Given the description of an element on the screen output the (x, y) to click on. 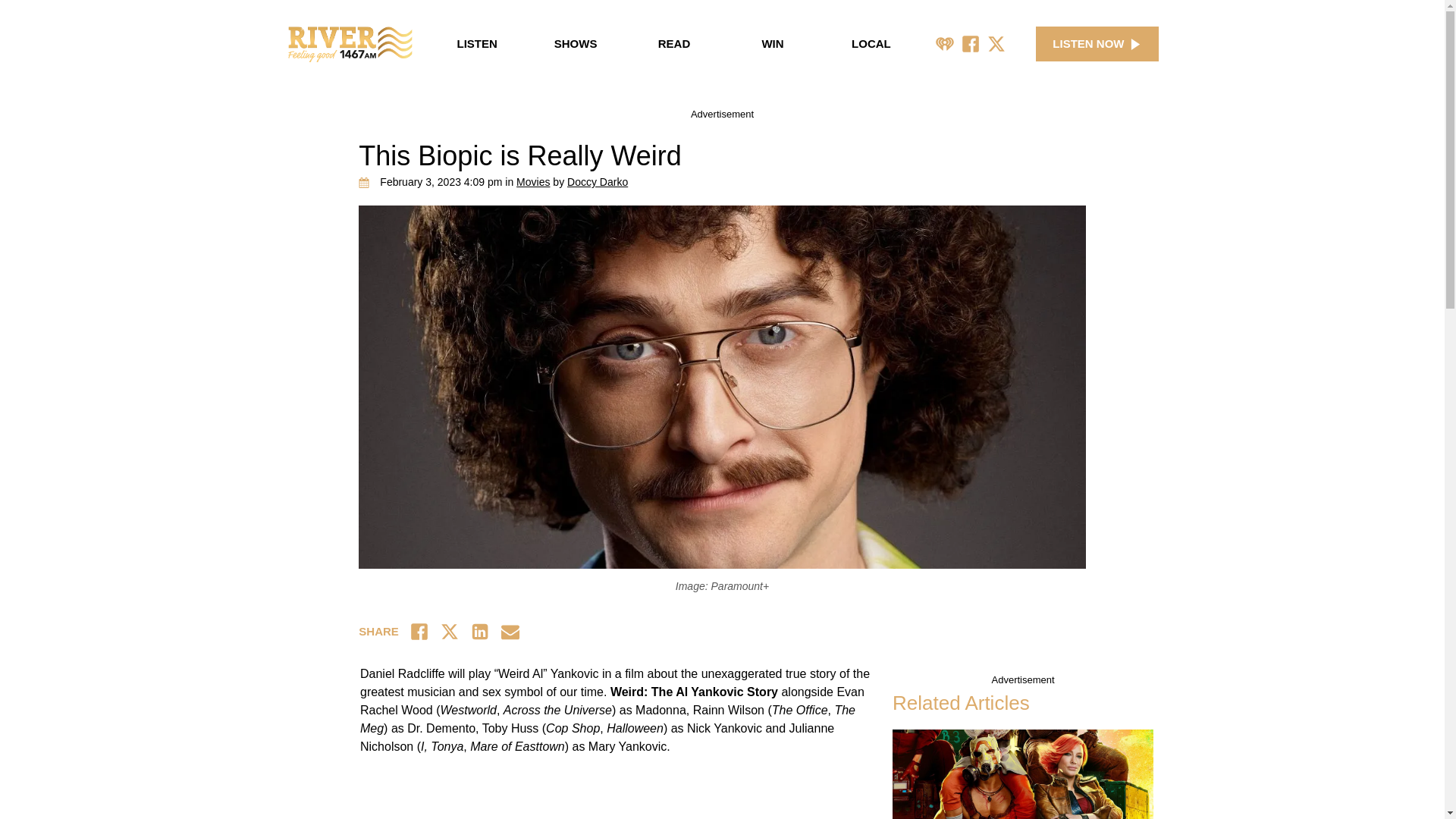
Posts by Doccy Darko (597, 182)
YouTube video player (571, 793)
LOCAL (871, 43)
Facebook (969, 44)
SHOWS (574, 43)
iHeart (944, 44)
LISTEN NOW (1096, 44)
WIN (772, 43)
LISTEN (476, 43)
READ (673, 43)
